Given the description of an element on the screen output the (x, y) to click on. 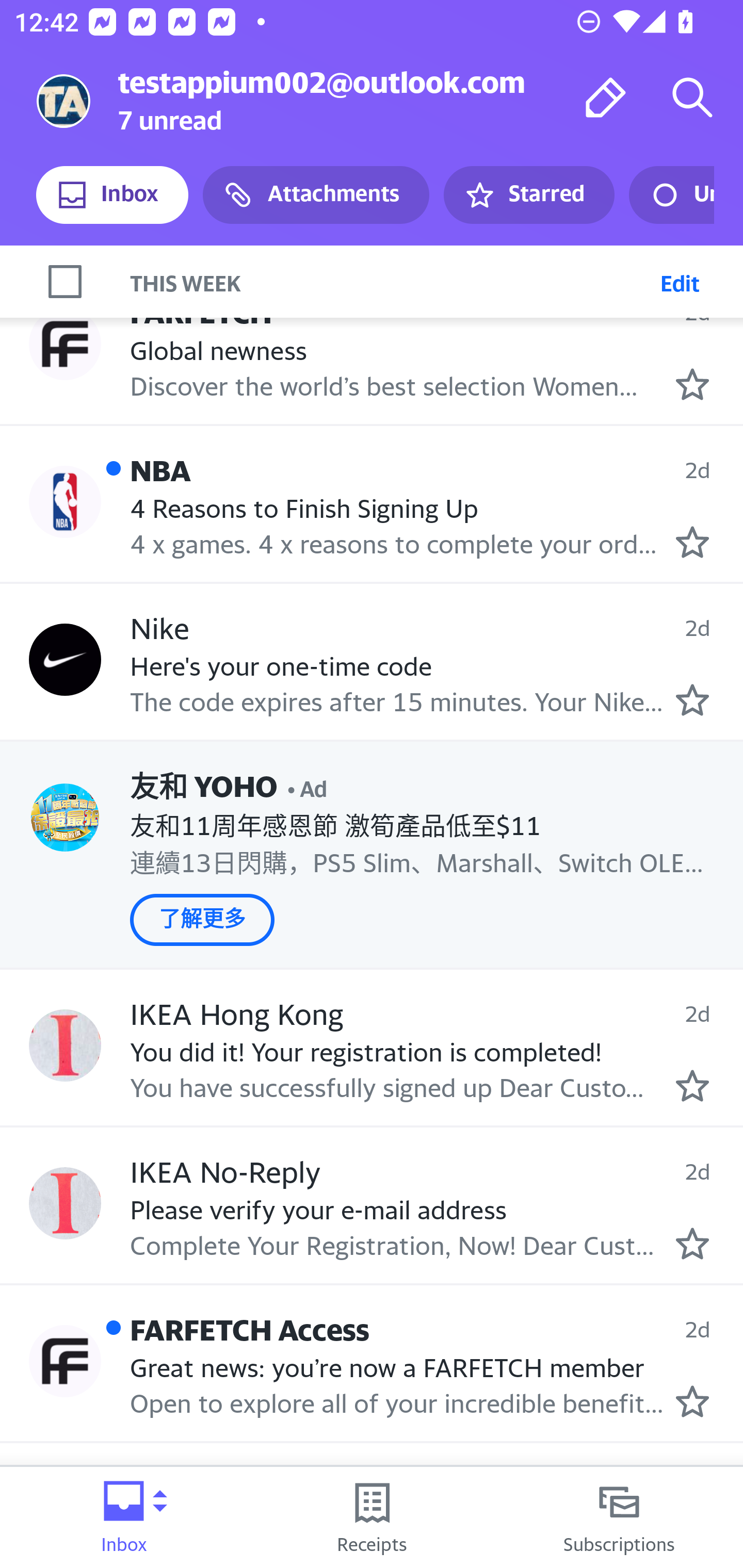
Compose (605, 97)
Search mail (692, 97)
Attachments (315, 195)
Starred (528, 195)
Profile
FARFETCH (64, 343)
Mark as starred. (692, 384)
Profile
NBA (64, 501)
Mark as starred. (692, 541)
Profile
Nike (64, 660)
Mark as starred. (692, 700)
Profile
IKEA Hong Kong (64, 1045)
Mark as starred. (692, 1085)
Profile
IKEA No-Reply (64, 1202)
Mark as starred. (692, 1244)
Profile
FARFETCH Access (64, 1360)
Mark as starred. (692, 1400)
Inbox Folder picker (123, 1517)
Receipts (371, 1517)
Subscriptions (619, 1517)
